Given the description of an element on the screen output the (x, y) to click on. 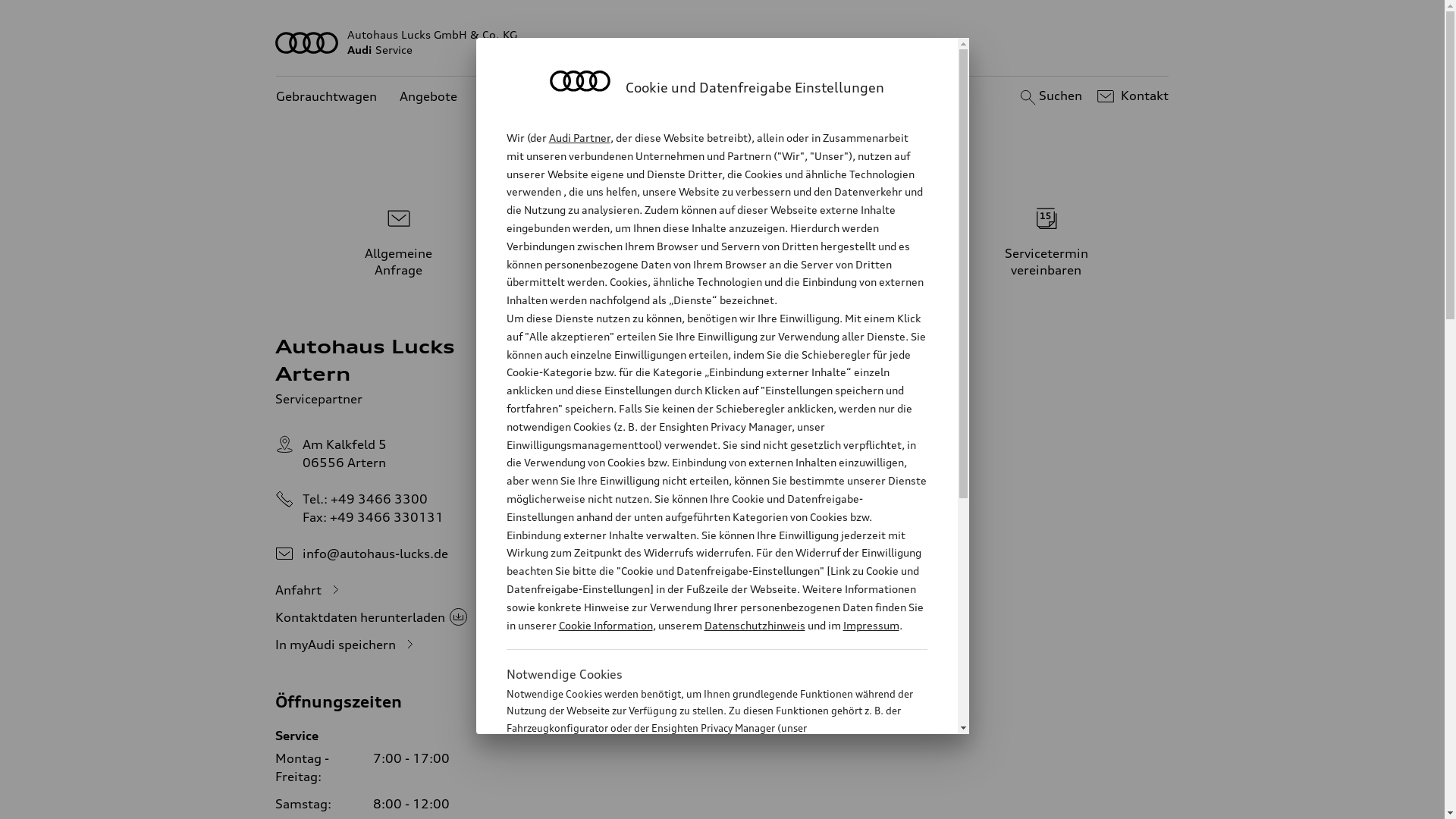
Autohaus Lucks GmbH & Co. KG
AudiService Element type: text (722, 42)
Servicetermin
vereinbaren Element type: text (1046, 238)
Serviceberater
kontaktieren Element type: text (722, 238)
Angebote Element type: text (428, 96)
Cookie Information Element type: text (700, 802)
Datenschutzhinweis Element type: text (753, 624)
Audi Partner Element type: text (579, 137)
Am Kalkfeld 5
06556 Artern Element type: text (344, 453)
Impressum Element type: text (871, 624)
Anfahrt Element type: text (309, 589)
Cookie Information Element type: text (605, 624)
Kundenservice Element type: text (523, 96)
Suchen Element type: text (1049, 96)
info@autohaus-lucks.de Element type: text (375, 553)
Kontaktdaten herunterladen Element type: text (371, 617)
Kontakt Element type: text (1130, 96)
Allgemeine
Anfrage Element type: text (398, 238)
+49 3466 3300 Element type: text (378, 498)
In myAudi speichern Element type: text (346, 644)
Gebrauchtwagen Element type: text (326, 96)
